Given the description of an element on the screen output the (x, y) to click on. 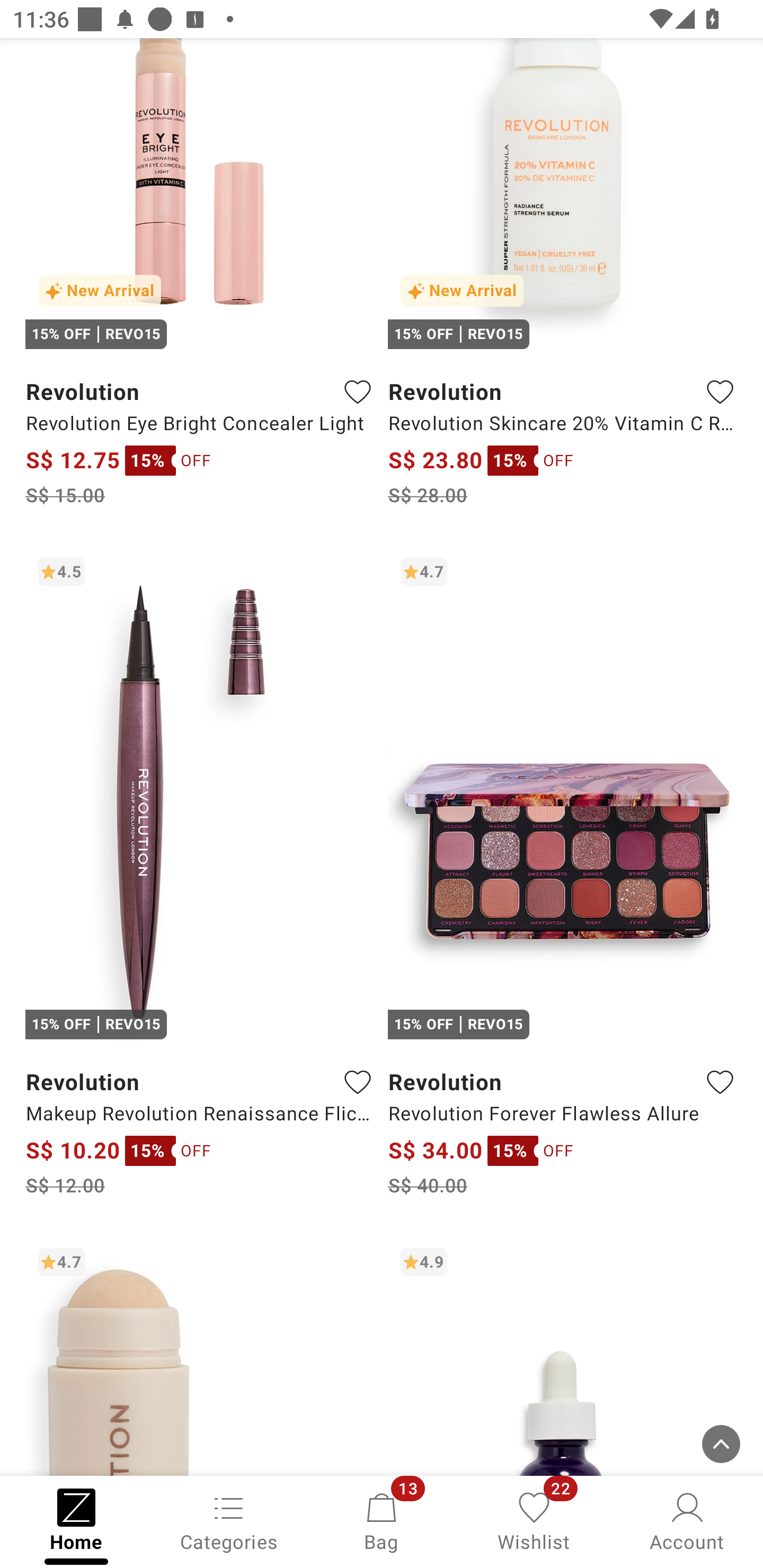
Categories (228, 1519)
Bag, 13 new notifications Bag (381, 1519)
Wishlist, 22 new notifications Wishlist (533, 1519)
Account (686, 1519)
